Given the description of an element on the screen output the (x, y) to click on. 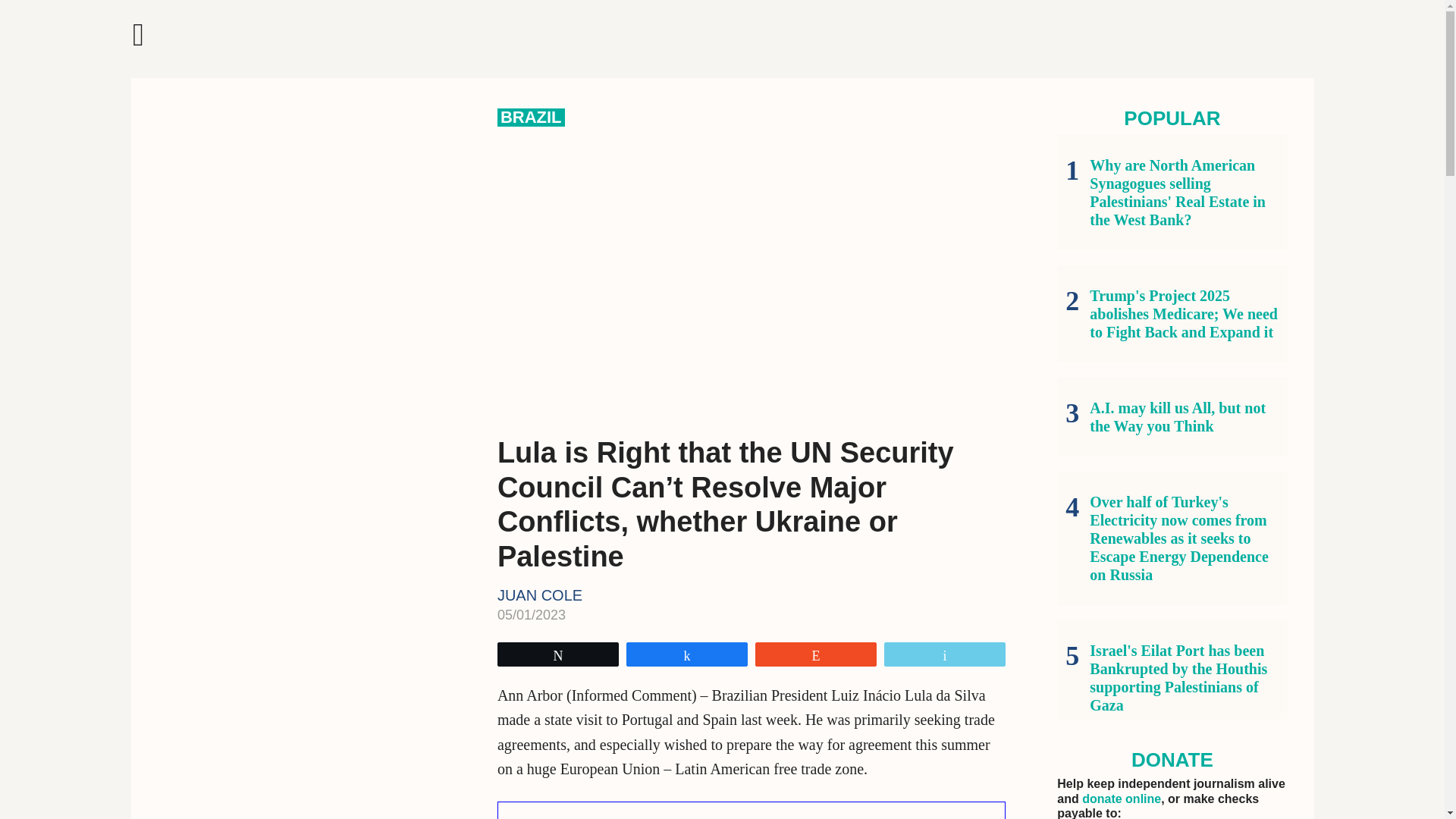
BRAZIL (530, 117)
JUAN COLE (539, 595)
